Given the description of an element on the screen output the (x, y) to click on. 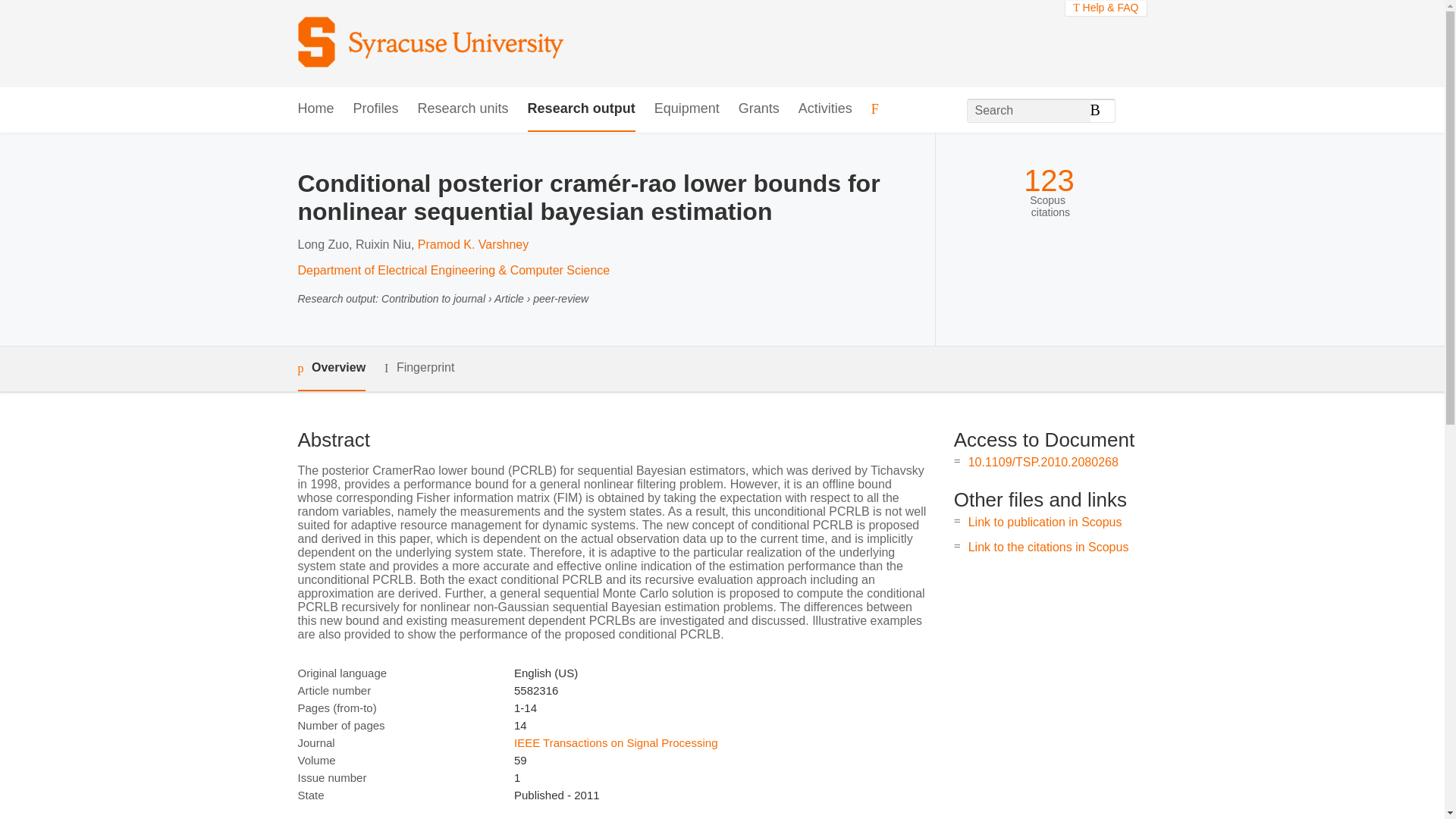
Grants (758, 108)
Link to publication in Scopus (1045, 521)
Overview (331, 368)
Fingerprint (419, 367)
IEEE Transactions on Signal Processing (615, 742)
123 (1048, 180)
Equipment (686, 108)
Activities (824, 108)
Profiles (375, 108)
